Given the description of an element on the screen output the (x, y) to click on. 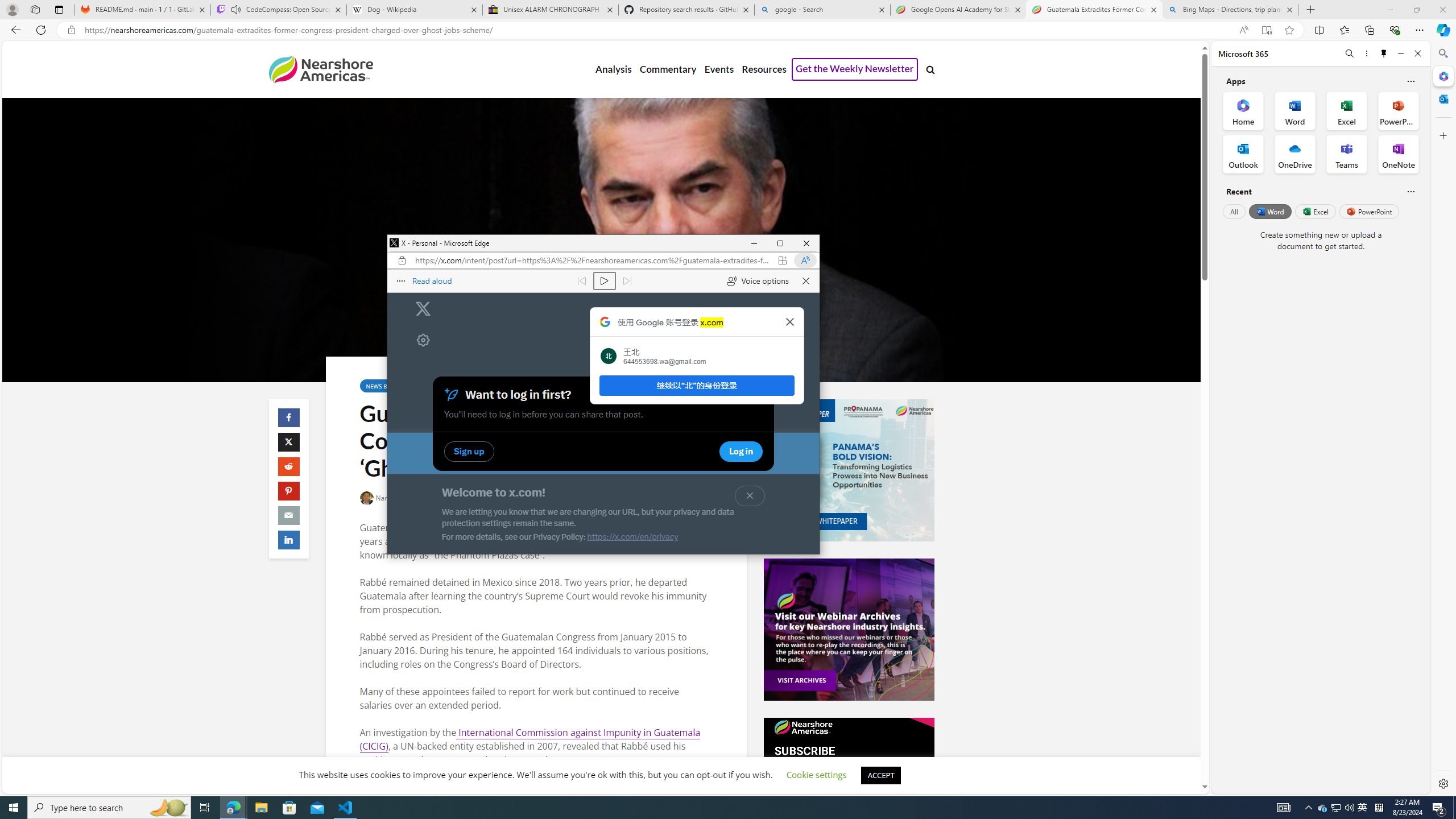
Commentary (667, 69)
Events-Banner-Ad.jpg (848, 629)
Maximize (780, 243)
ACCEPT (880, 775)
Running applications (700, 807)
Read next paragraph (627, 280)
